Given the description of an element on the screen output the (x, y) to click on. 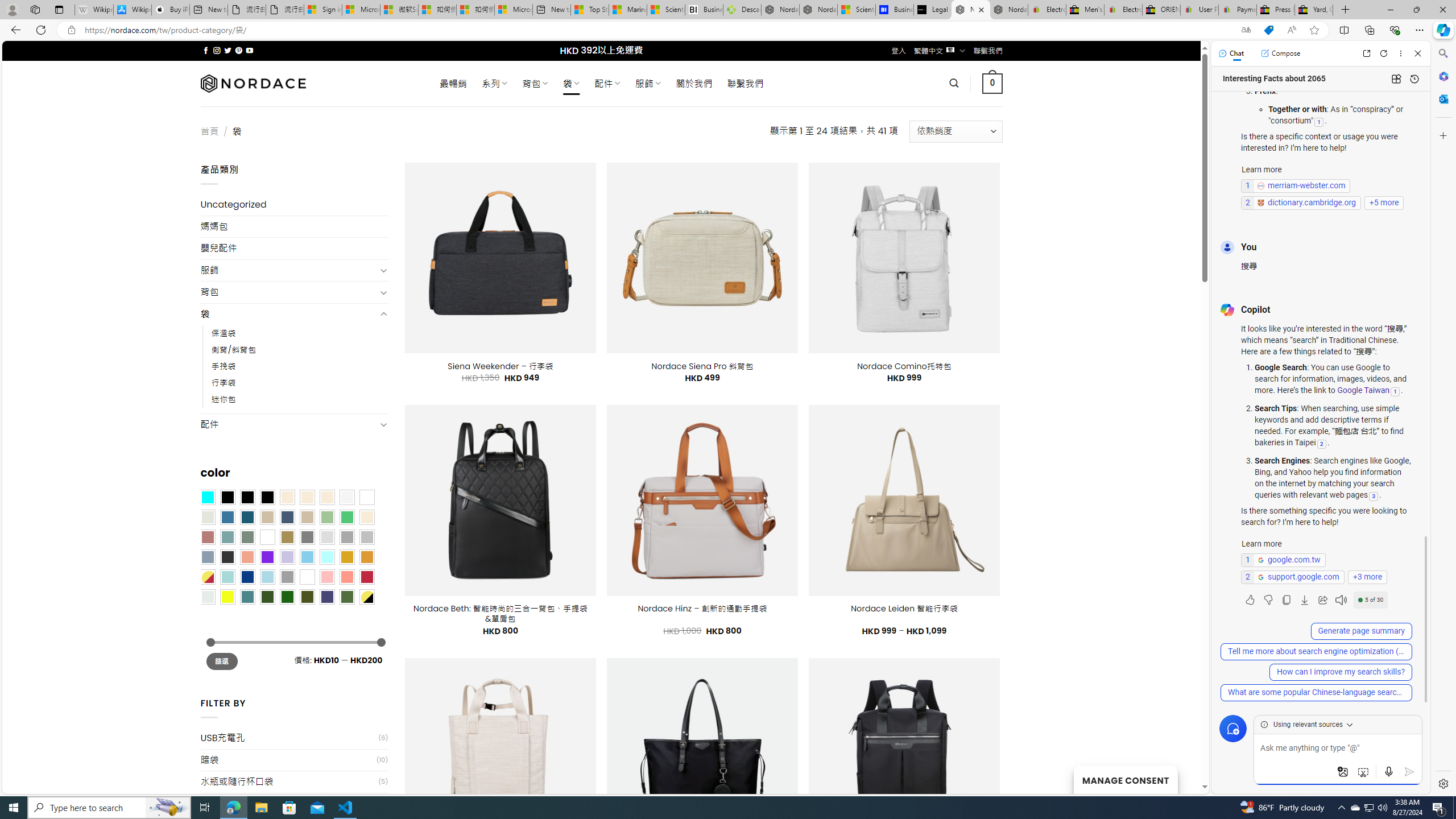
Compose (1280, 52)
